Given the description of an element on the screen output the (x, y) to click on. 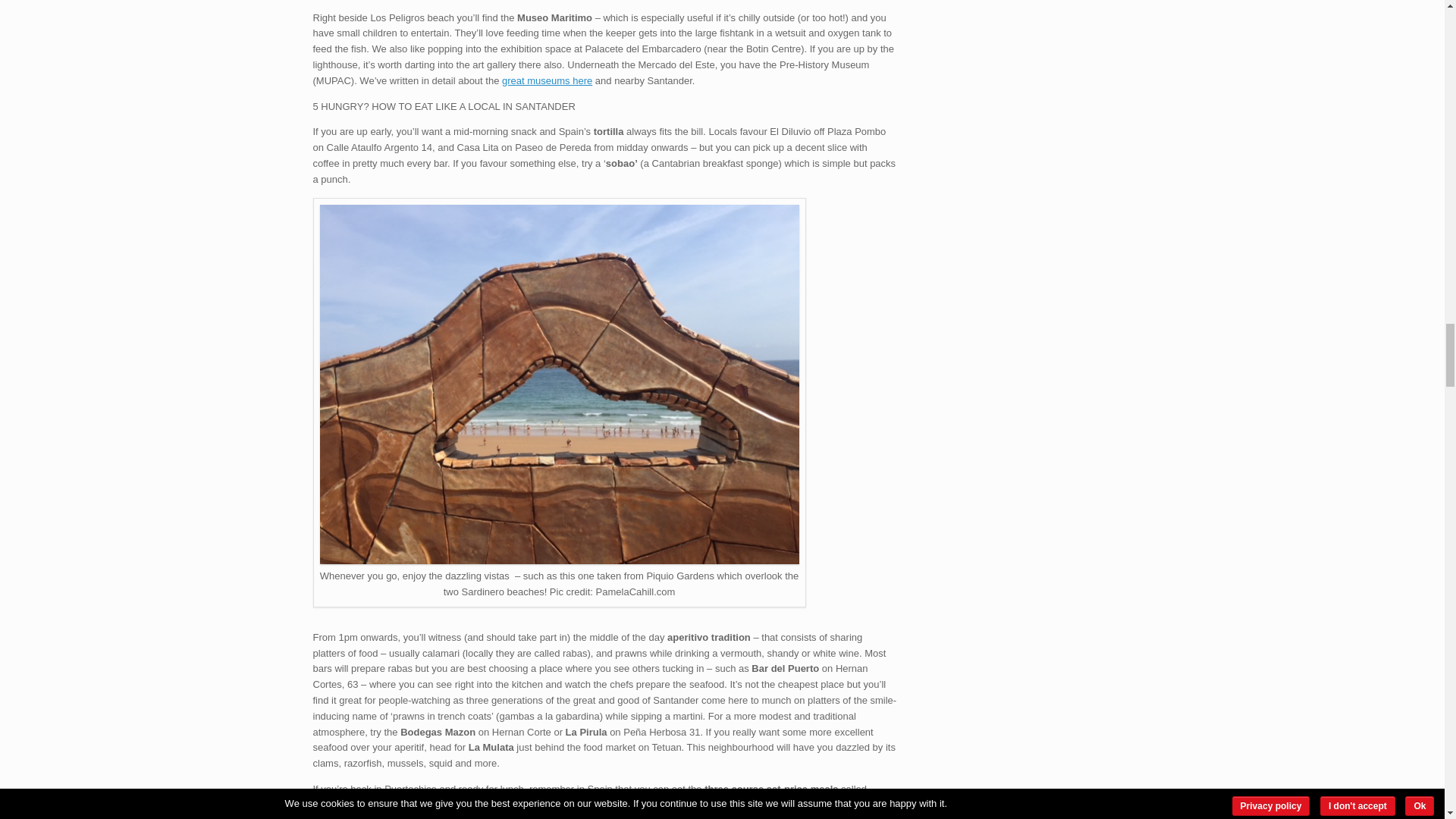
Santander City  (559, 560)
great museums here (547, 80)
